Given the description of an element on the screen output the (x, y) to click on. 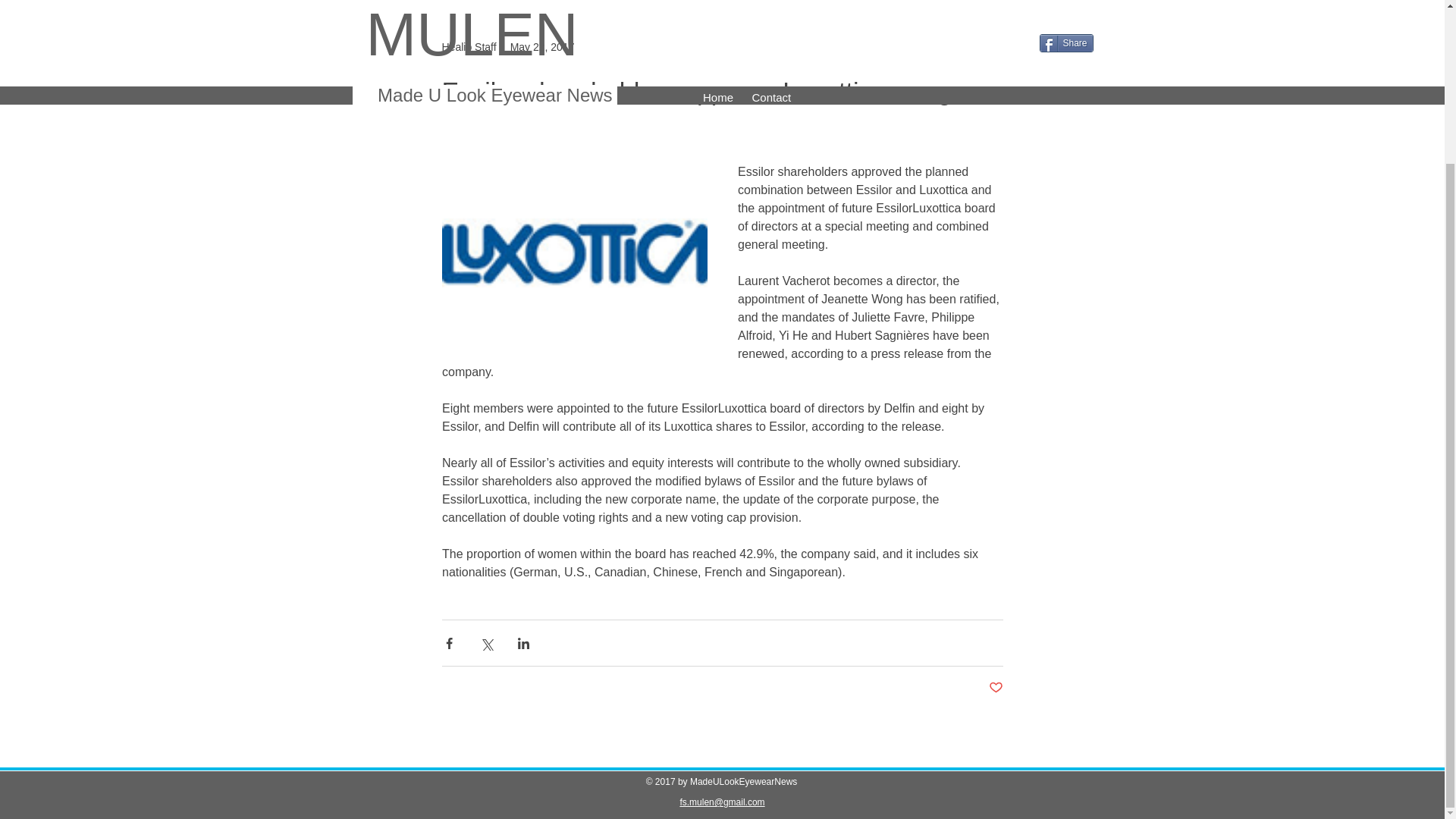
May 22, 2017 (543, 46)
Post not marked as liked (995, 688)
Healio Staff (468, 46)
